Given the description of an element on the screen output the (x, y) to click on. 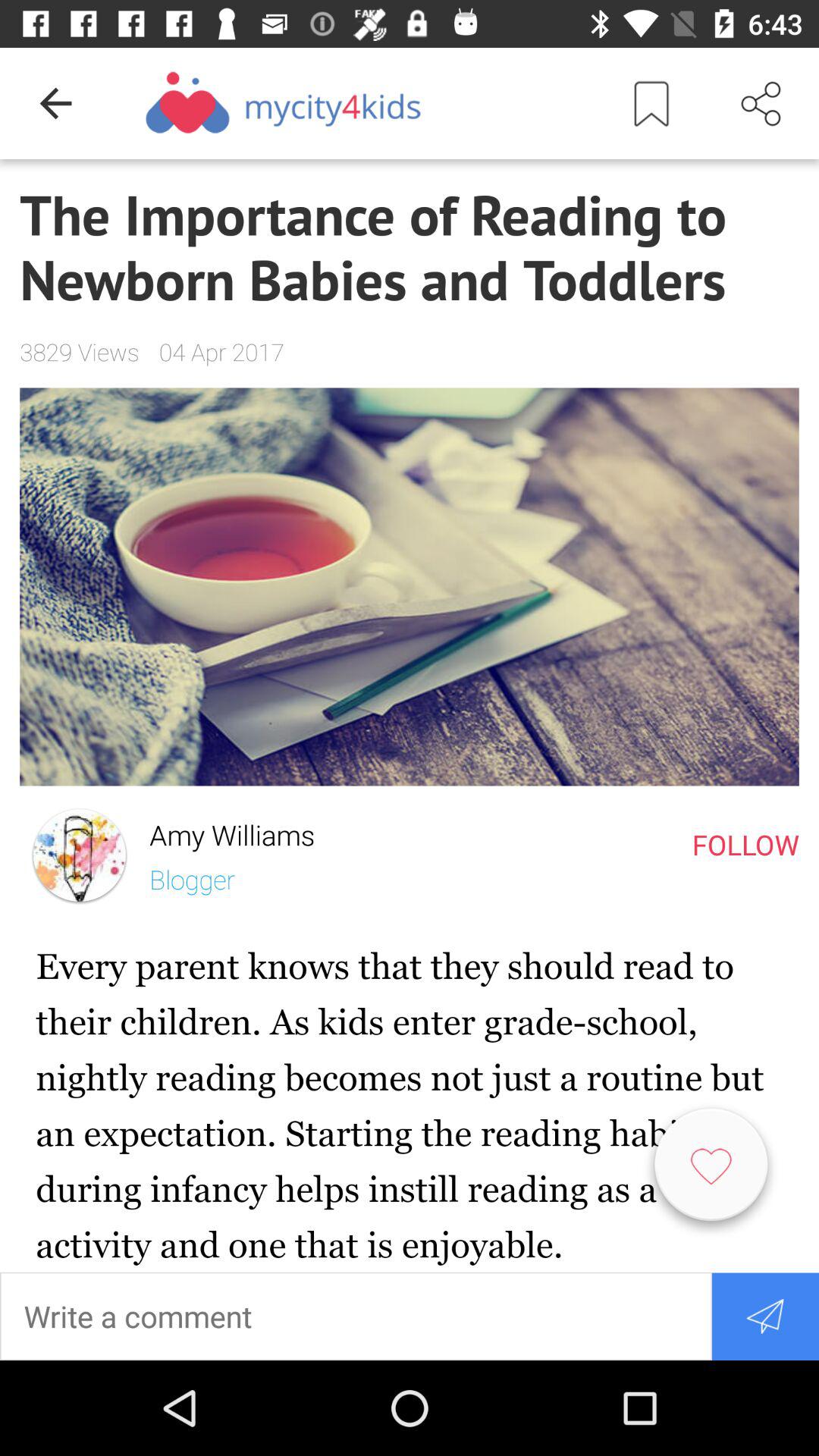
open the item to the left of amy williams item (79, 855)
